Given the description of an element on the screen output the (x, y) to click on. 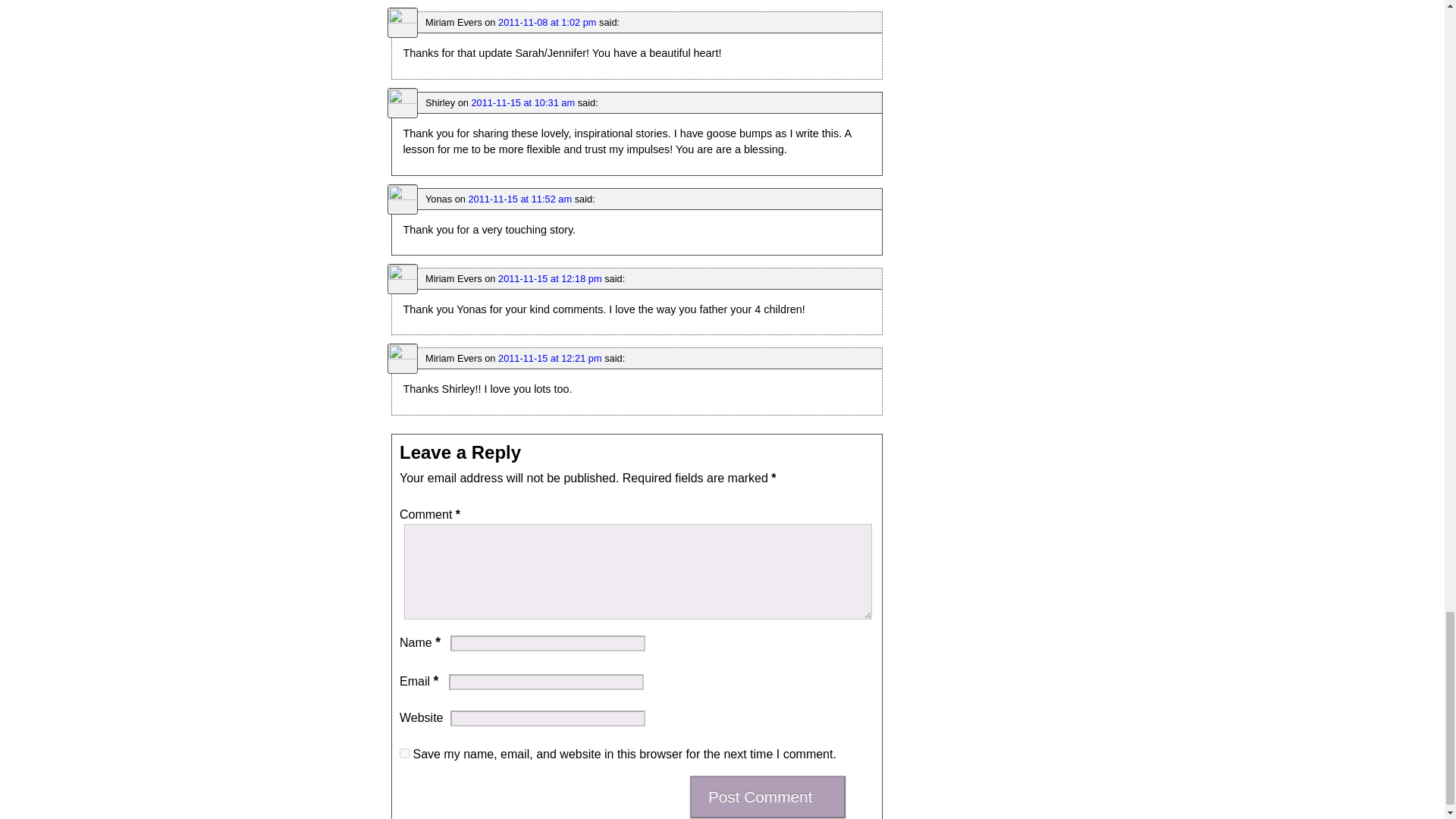
2011-11-15 at 11:52 am (519, 198)
yes (403, 753)
2011-11-08 at 1:02 pm (546, 21)
Post Comment (767, 796)
2011-11-15 at 10:31 am (522, 102)
